Given the description of an element on the screen output the (x, y) to click on. 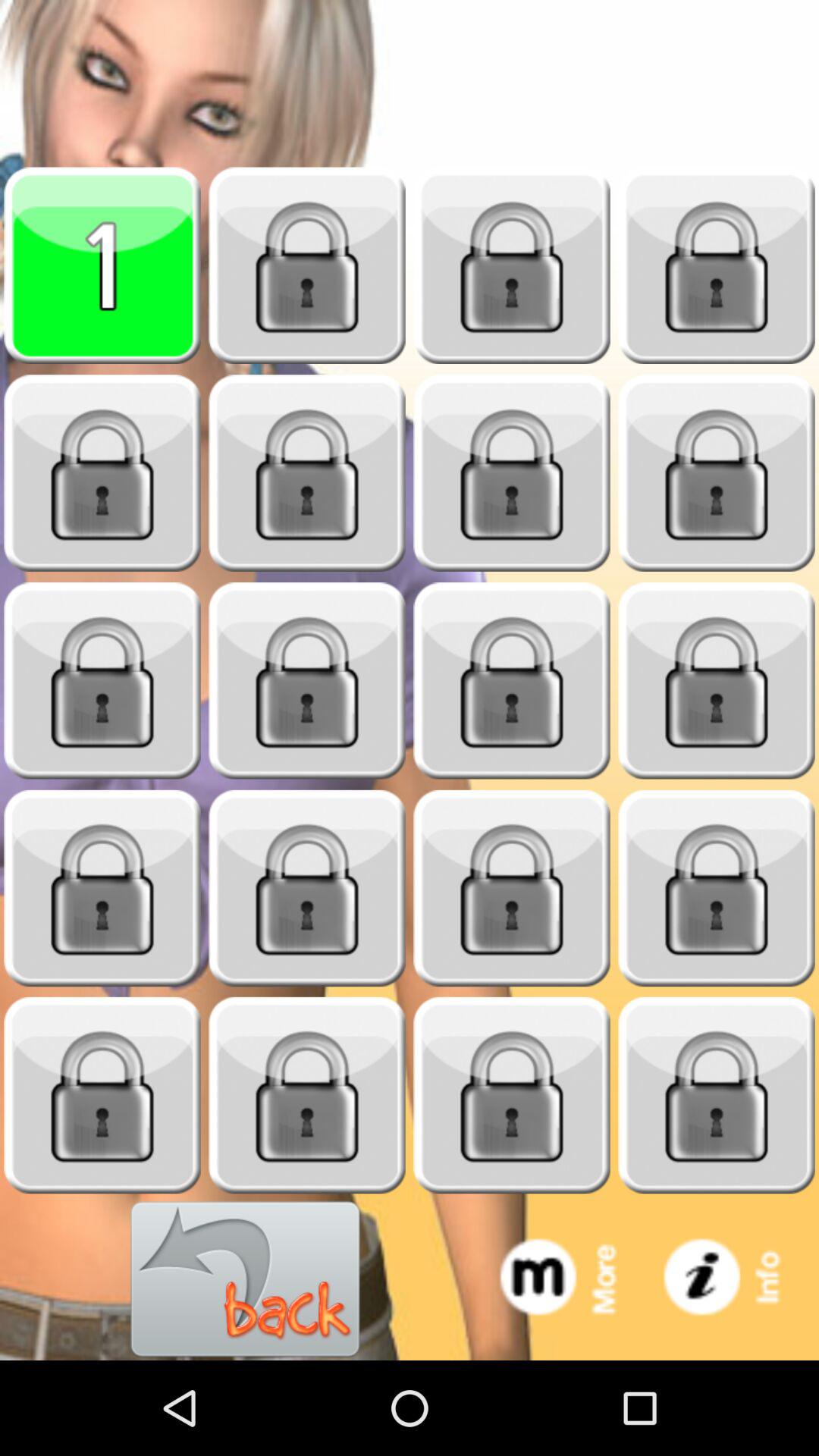
see more (573, 1279)
